Given the description of an element on the screen output the (x, y) to click on. 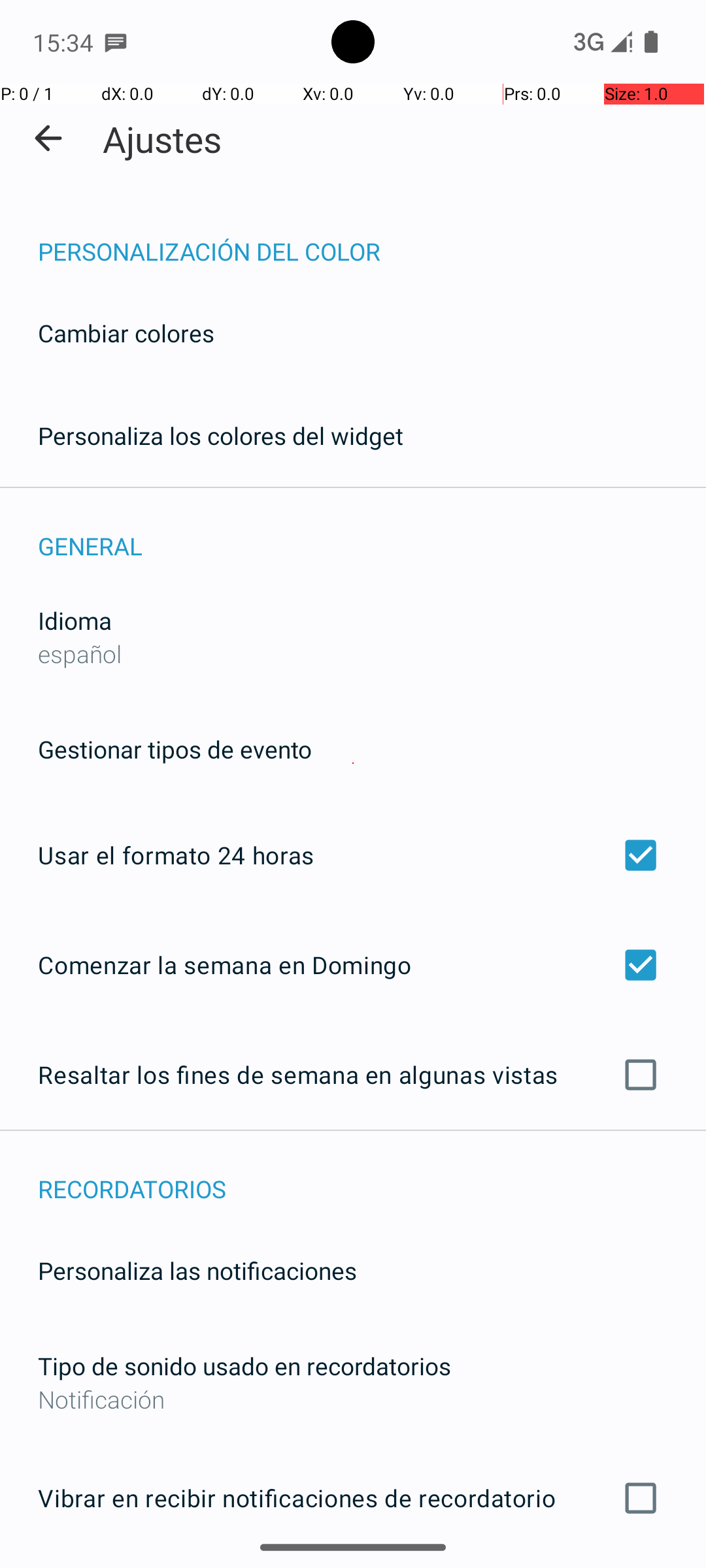
PERSONALIZACIÓN DEL COLOR Element type: android.widget.TextView (371, 237)
RECORDATORIOS Element type: android.widget.TextView (371, 1174)
Cambiar colores Element type: android.widget.TextView (125, 332)
Personaliza los colores del widget Element type: android.widget.TextView (220, 435)
Idioma Element type: android.widget.TextView (74, 620)
español Element type: android.widget.TextView (79, 653)
Usar el formato 24 horas Element type: android.widget.CheckBox (352, 855)
Comenzar la semana en Domingo Element type: android.widget.CheckBox (352, 964)
Resaltar los fines de semana en algunas vistas Element type: android.widget.CheckBox (352, 1074)
Personaliza las notificaciones Element type: android.widget.TextView (196, 1270)
Tipo de sonido usado en recordatorios Element type: android.widget.TextView (244, 1365)
Vibrar en recibir notificaciones de recordatorio Element type: android.widget.CheckBox (352, 1497)
Repetir recordatorios hasta ser descartados Element type: android.widget.CheckBox (352, 1567)
